Given the description of an element on the screen output the (x, y) to click on. 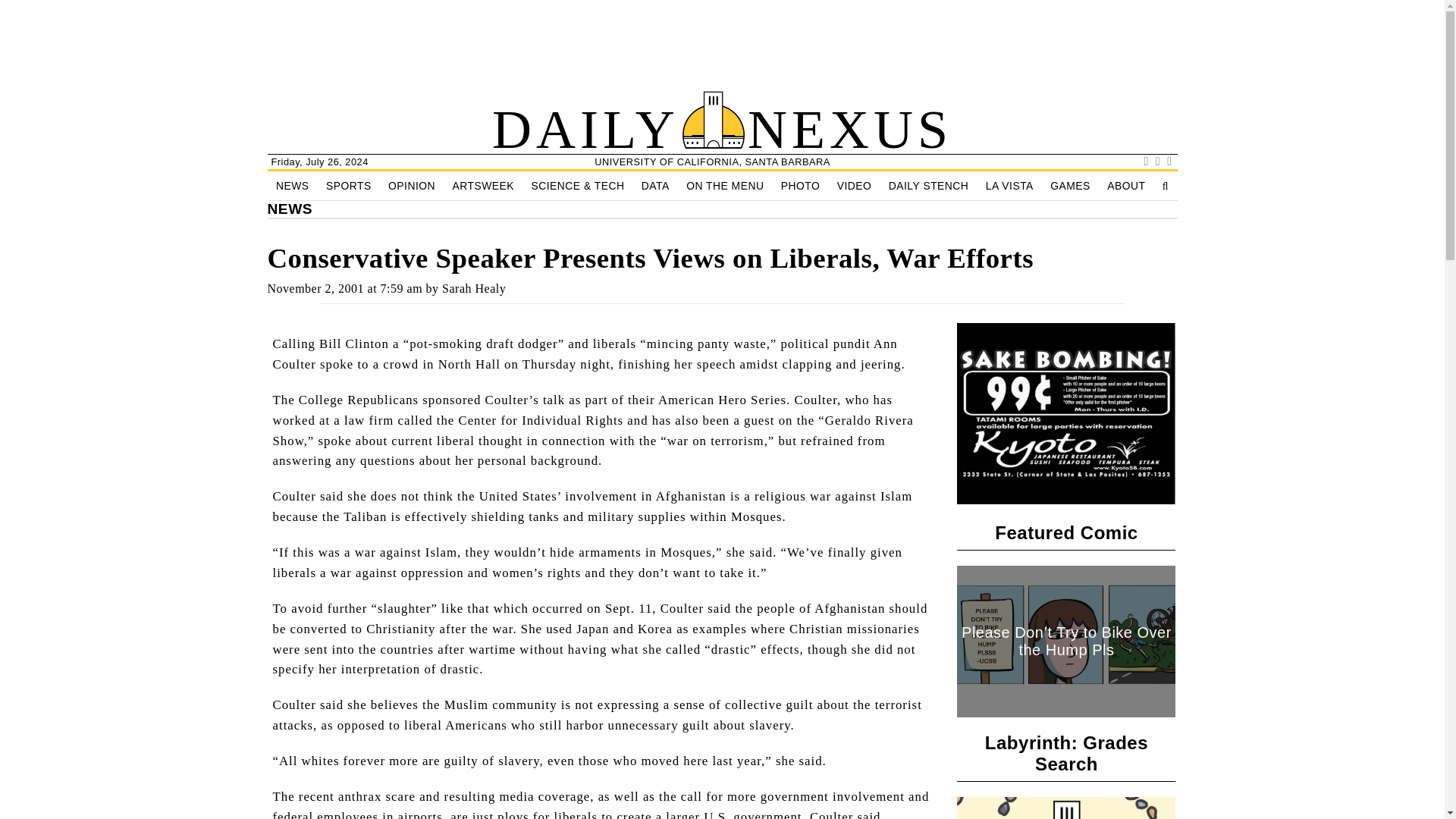
Posts by Sarah Healy (473, 287)
